Given the description of an element on the screen output the (x, y) to click on. 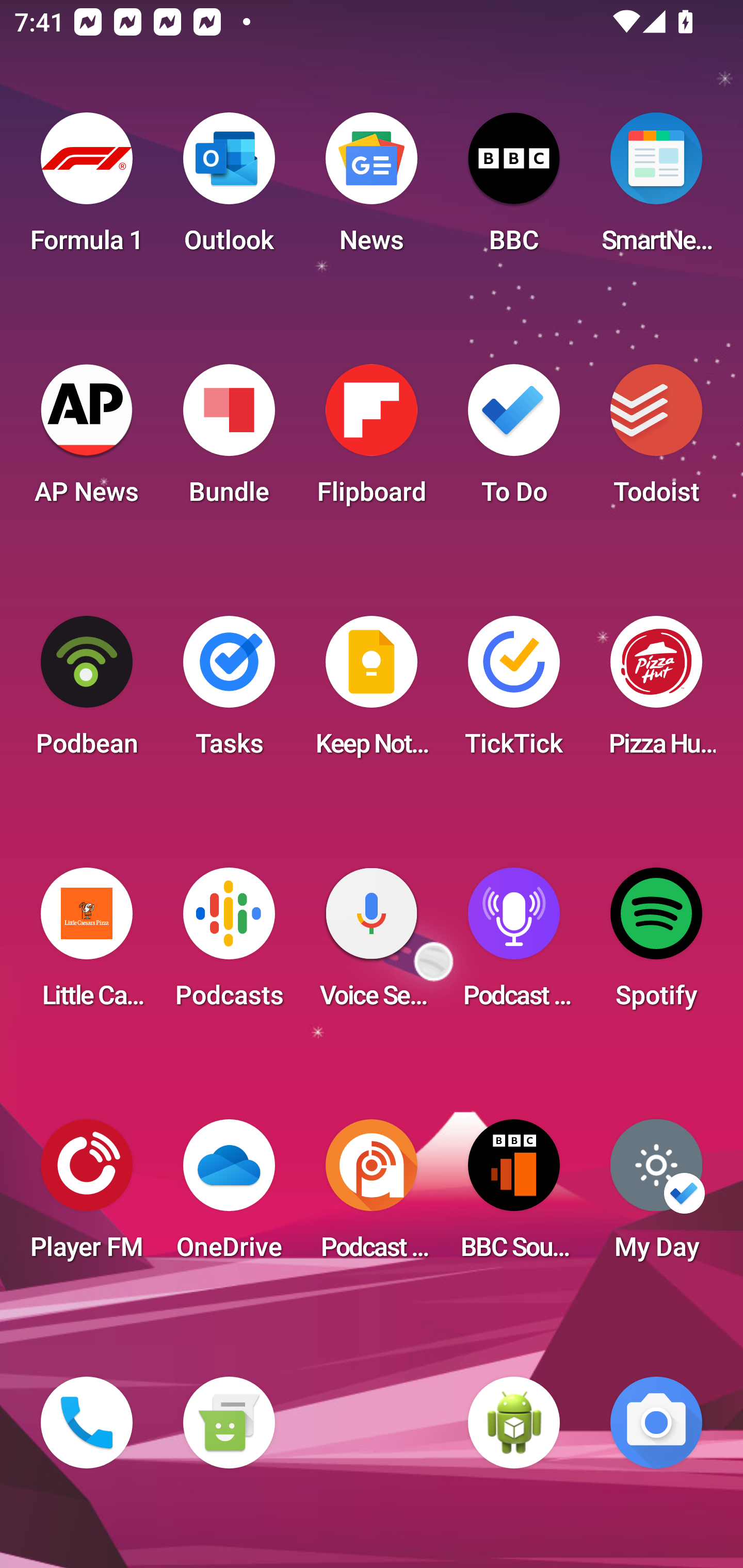
Formula 1 (86, 188)
Outlook (228, 188)
News (371, 188)
BBC (513, 188)
SmartNews (656, 188)
AP News (86, 440)
Bundle (228, 440)
Flipboard (371, 440)
To Do (513, 440)
Todoist (656, 440)
Podbean (86, 692)
Tasks (228, 692)
Keep Notes (371, 692)
TickTick (513, 692)
Pizza Hut HK & Macau (656, 692)
Little Caesars Pizza (86, 943)
Podcasts (228, 943)
Voice Search (371, 943)
Podcast Player (513, 943)
Spotify (656, 943)
Player FM (86, 1195)
OneDrive (228, 1195)
Podcast Addict (371, 1195)
BBC Sounds (513, 1195)
My Day (656, 1195)
Phone (86, 1422)
Messaging (228, 1422)
WebView Browser Tester (513, 1422)
Camera (656, 1422)
